Given the description of an element on the screen output the (x, y) to click on. 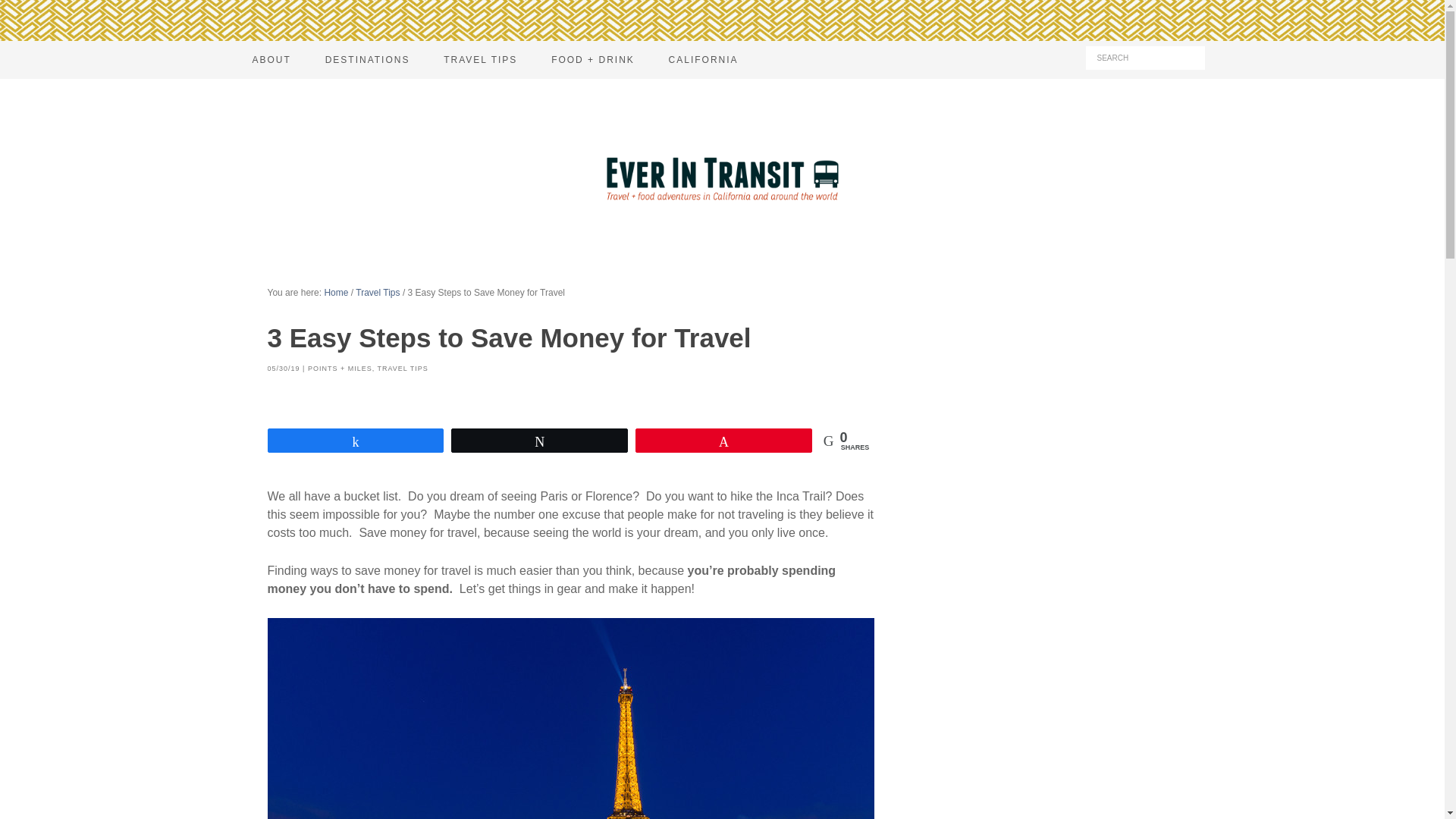
Ever In Transit (721, 177)
ABOUT (270, 59)
Travel Tips (376, 292)
TRAVEL TIPS (402, 368)
TRAVEL TIPS (480, 59)
CALIFORNIA (703, 59)
DESTINATIONS (367, 59)
Home (335, 292)
